Given the description of an element on the screen output the (x, y) to click on. 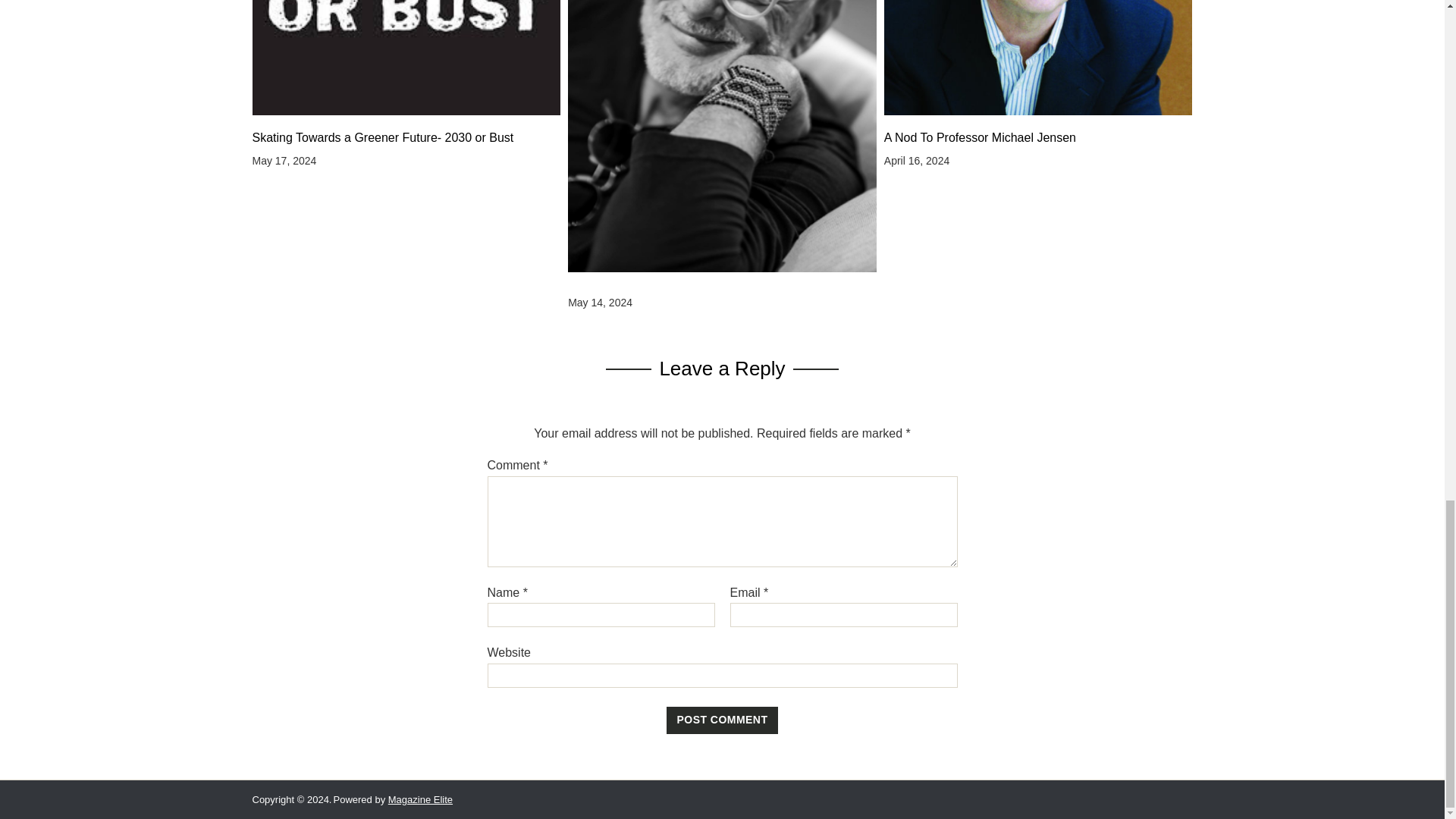
A Nod To Professor Michael Jensen (1037, 137)
Magazine Elite (420, 799)
Skating Towards a Greener Future- 2030 or Bust (405, 137)
Post Comment (722, 719)
Post Comment (722, 719)
